Given the description of an element on the screen output the (x, y) to click on. 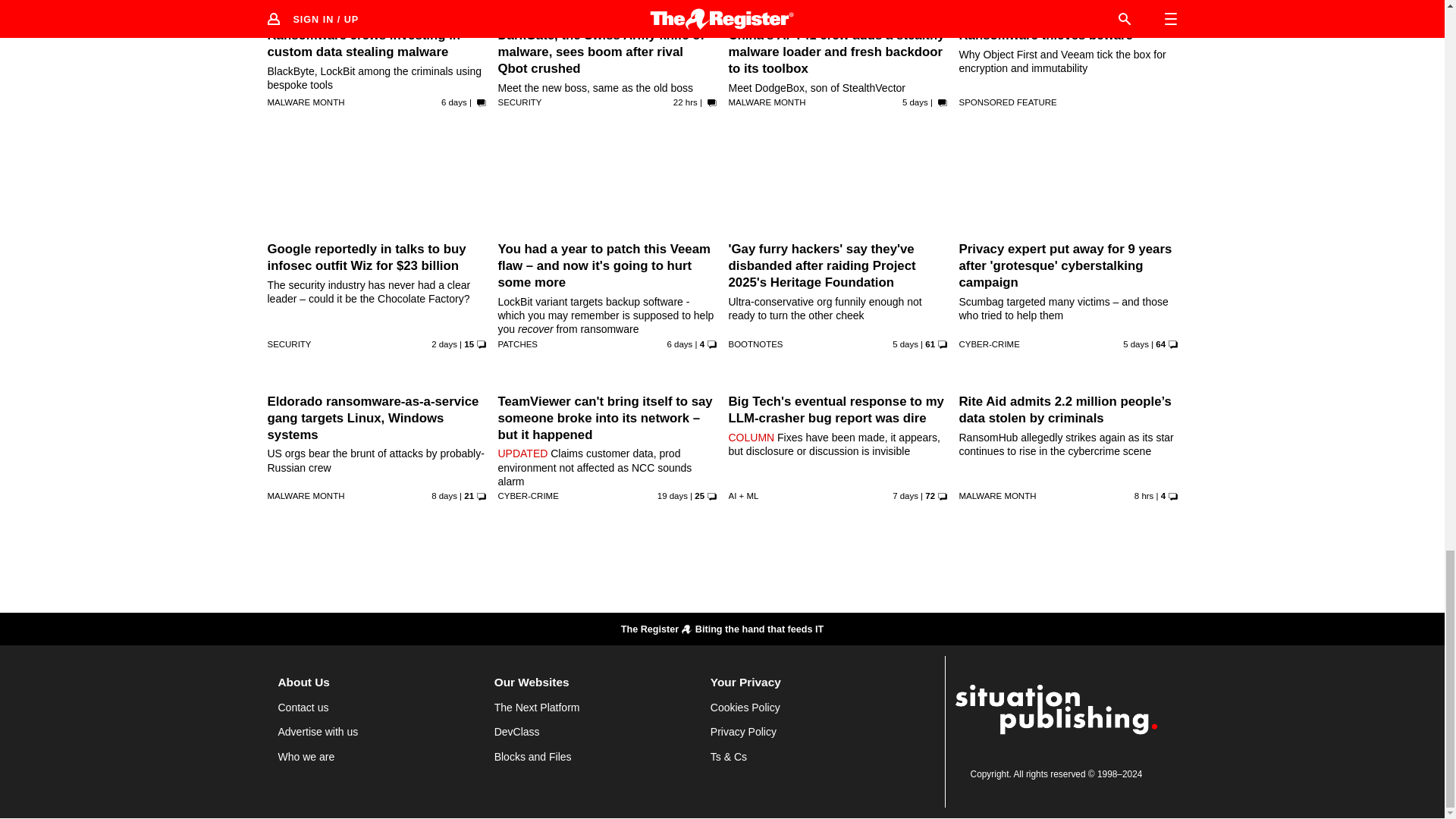
28 Jun 2024 0:37 (672, 495)
12 Jul 2024 0:22 (905, 343)
10 Jul 2024 10:0 (454, 102)
11 Jul 2024 7:28 (679, 343)
16 Jul 2024 0:15 (684, 102)
15 Jul 2024 4:39 (443, 343)
12 Jul 2024 1:29 (915, 102)
11 Jul 2024 10:29 (1135, 343)
9 Jul 2024 7:29 (443, 495)
